Given the description of an element on the screen output the (x, y) to click on. 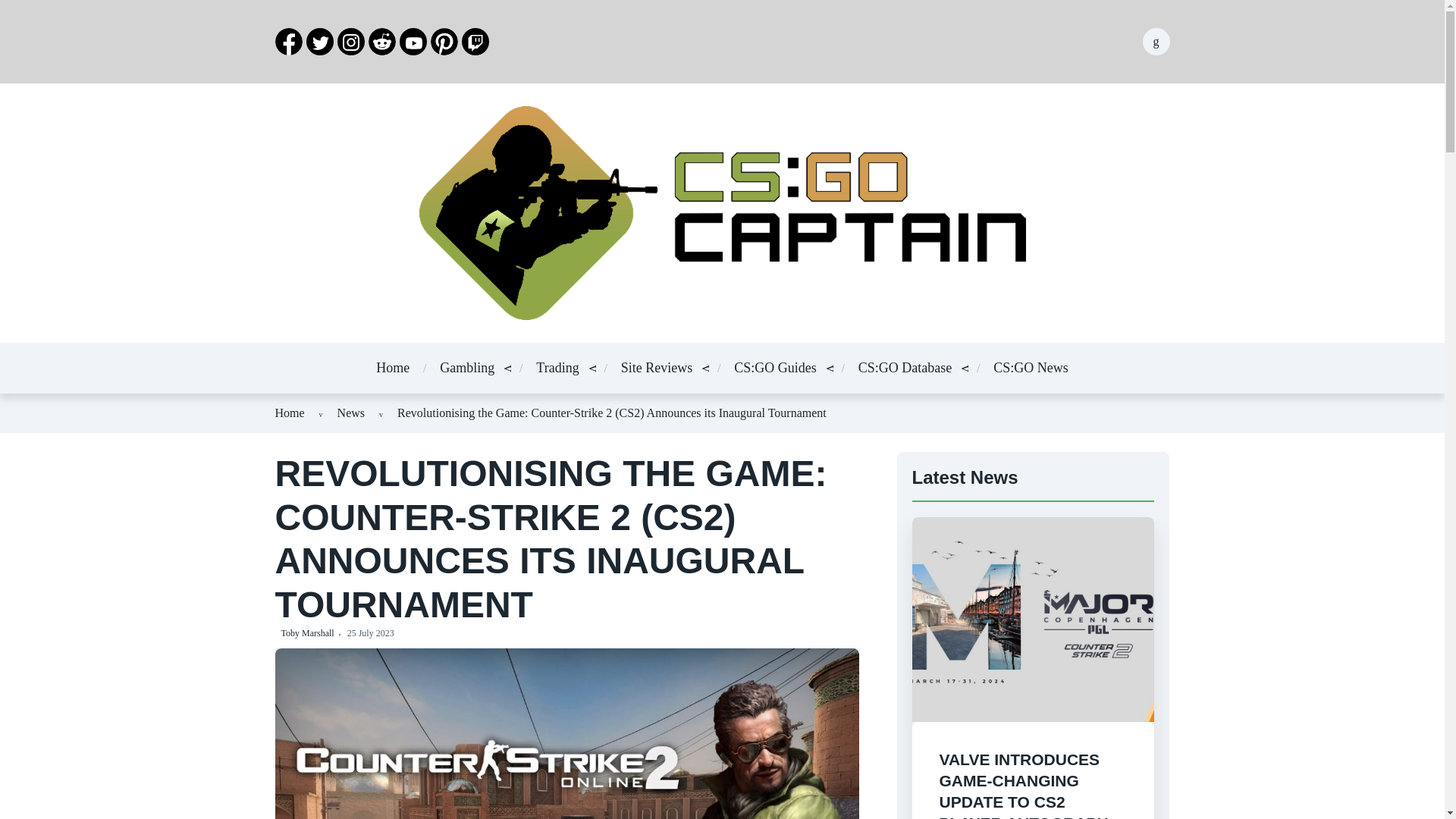
Site Reviews (657, 367)
News (351, 412)
Home (289, 412)
Trading (556, 367)
Home (392, 367)
Gambling (467, 367)
